Given the description of an element on the screen output the (x, y) to click on. 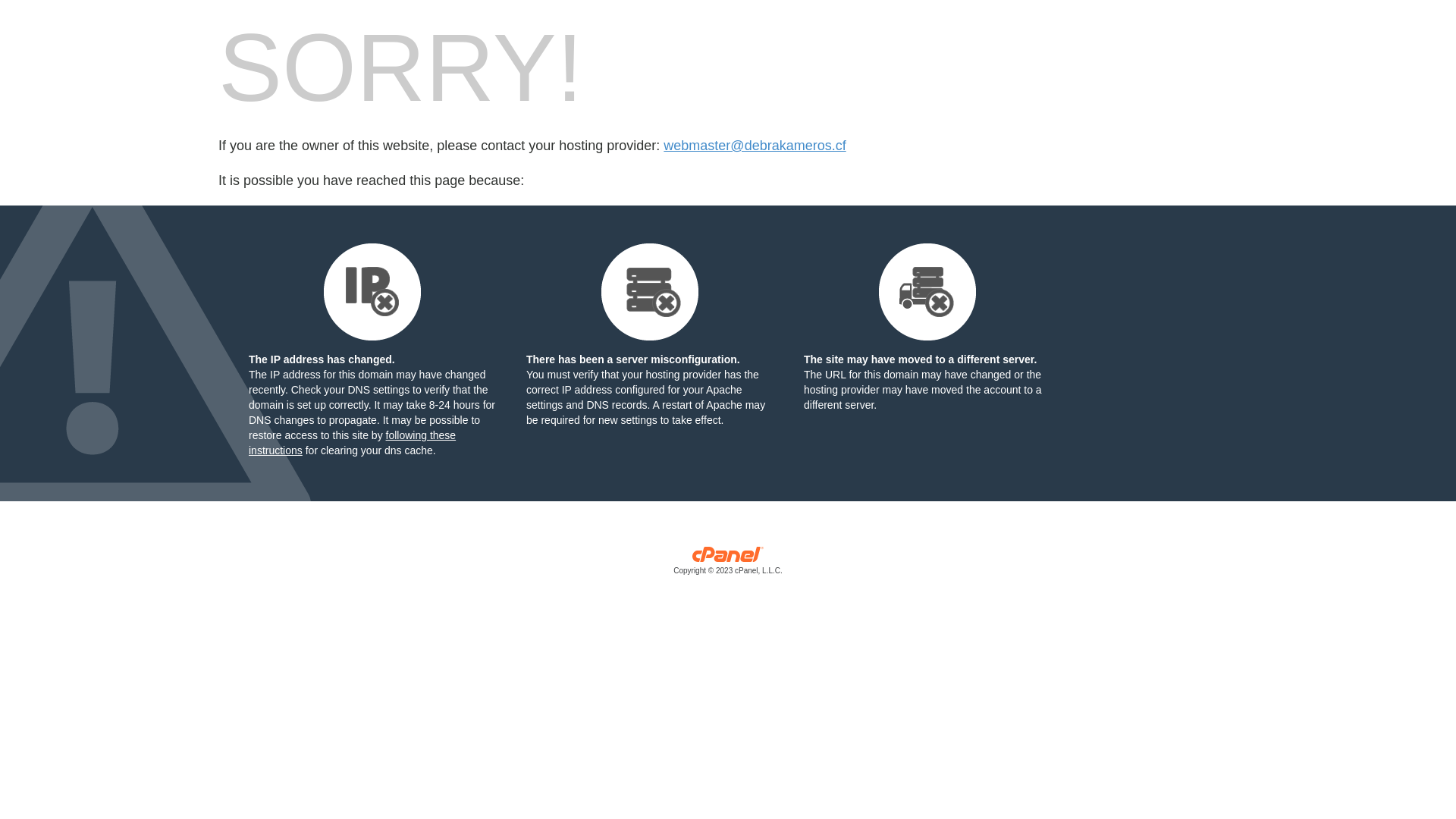
following these instructions Element type: text (351, 442)
webmaster@debrakameros.cf Element type: text (754, 145)
